Given the description of an element on the screen output the (x, y) to click on. 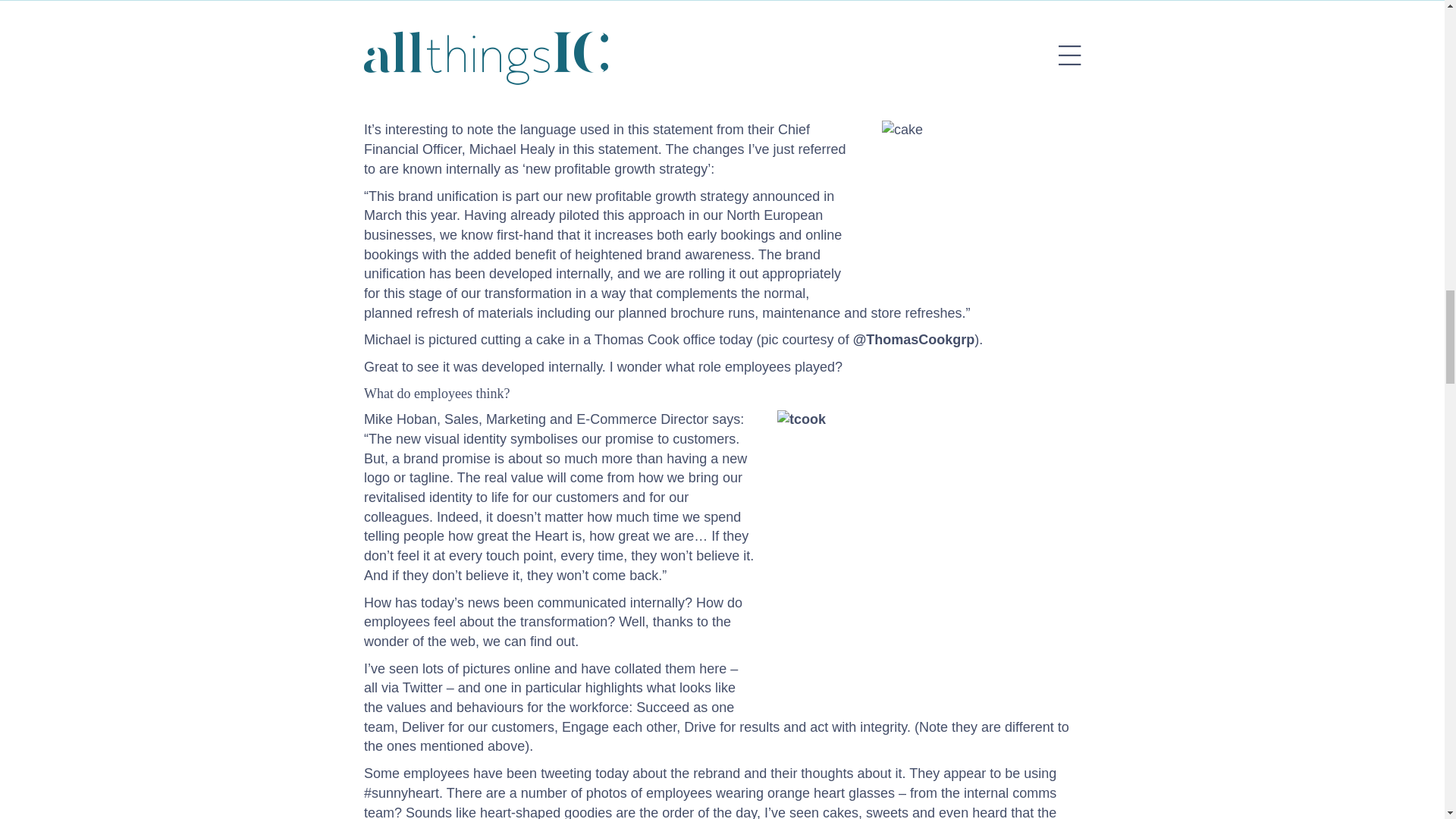
Communicating change at the Washington Post (814, 83)
Thomas Cook (914, 339)
BBC (948, 17)
Communicating change at the BBC (468, 102)
